Given the description of an element on the screen output the (x, y) to click on. 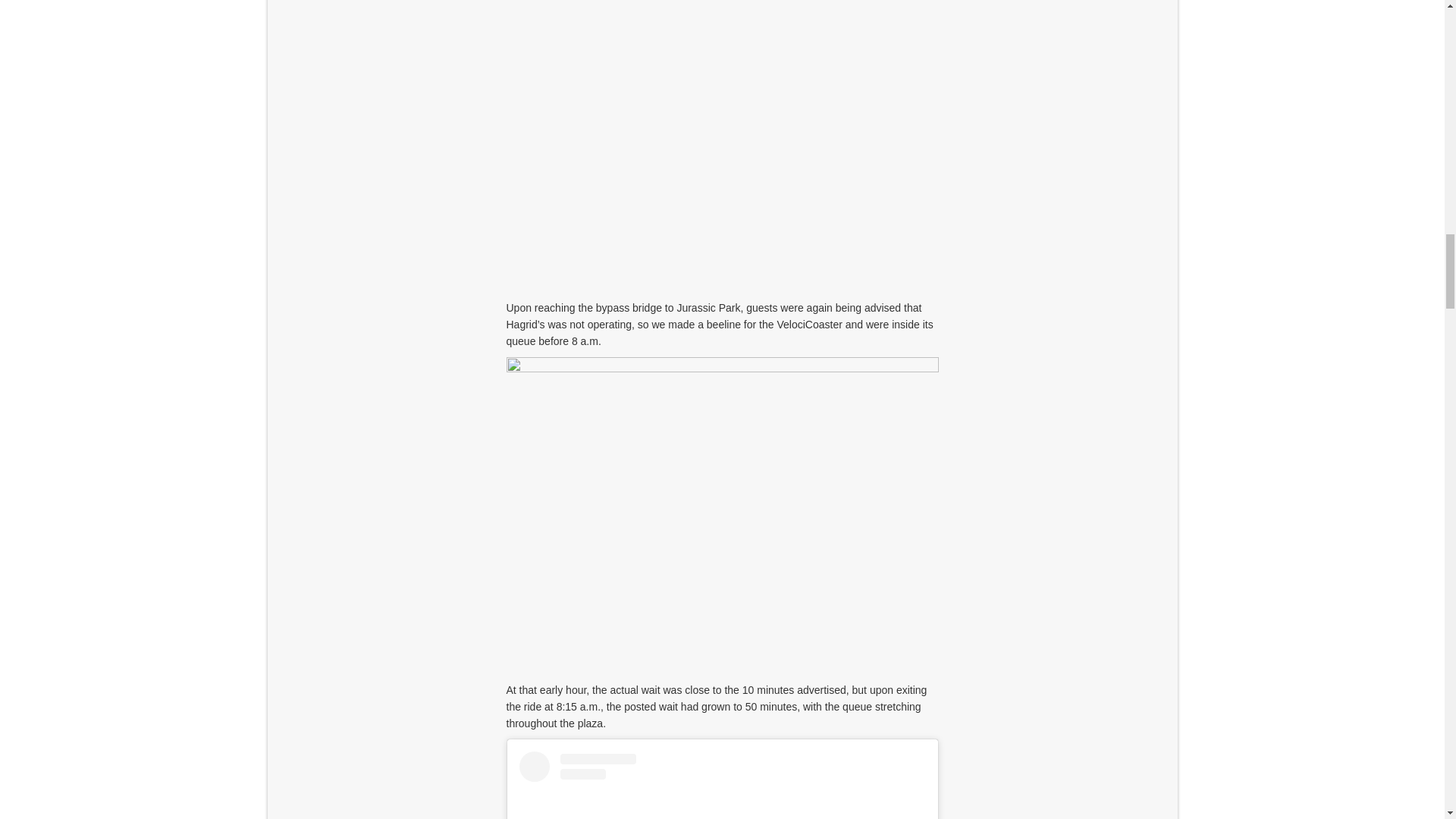
View this post on Instagram (721, 785)
